Given the description of an element on the screen output the (x, y) to click on. 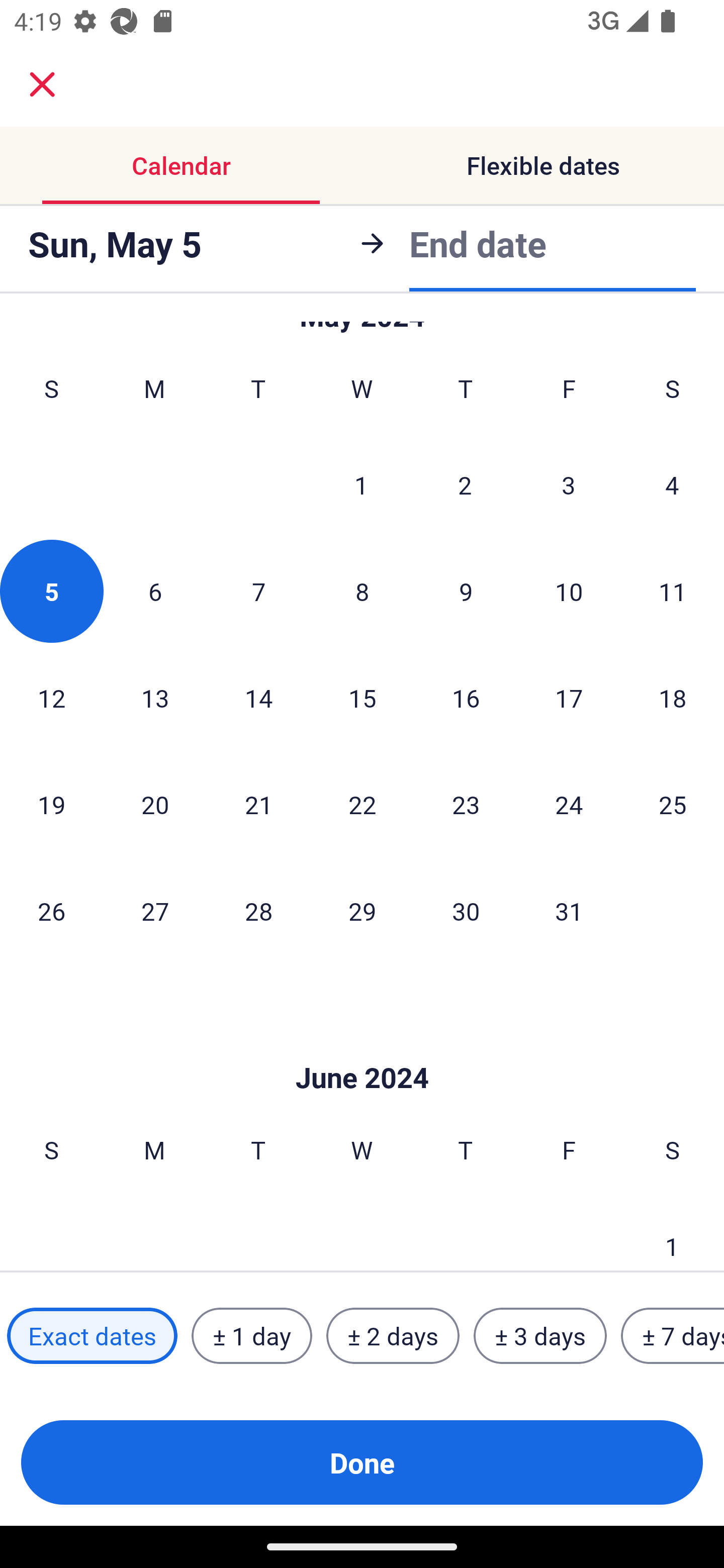
close. (42, 84)
Flexible dates (542, 164)
End date (477, 240)
1 Wednesday, May 1, 2024 (361, 484)
2 Thursday, May 2, 2024 (464, 484)
3 Friday, May 3, 2024 (568, 484)
4 Saturday, May 4, 2024 (672, 484)
6 Monday, May 6, 2024 (155, 590)
7 Tuesday, May 7, 2024 (258, 590)
8 Wednesday, May 8, 2024 (362, 590)
9 Thursday, May 9, 2024 (465, 590)
10 Friday, May 10, 2024 (569, 590)
11 Saturday, May 11, 2024 (672, 590)
12 Sunday, May 12, 2024 (51, 697)
13 Monday, May 13, 2024 (155, 697)
14 Tuesday, May 14, 2024 (258, 697)
15 Wednesday, May 15, 2024 (362, 697)
16 Thursday, May 16, 2024 (465, 697)
17 Friday, May 17, 2024 (569, 697)
18 Saturday, May 18, 2024 (672, 697)
19 Sunday, May 19, 2024 (51, 804)
20 Monday, May 20, 2024 (155, 804)
21 Tuesday, May 21, 2024 (258, 804)
22 Wednesday, May 22, 2024 (362, 804)
23 Thursday, May 23, 2024 (465, 804)
24 Friday, May 24, 2024 (569, 804)
25 Saturday, May 25, 2024 (672, 804)
26 Sunday, May 26, 2024 (51, 910)
27 Monday, May 27, 2024 (155, 910)
28 Tuesday, May 28, 2024 (258, 910)
29 Wednesday, May 29, 2024 (362, 910)
30 Thursday, May 30, 2024 (465, 910)
31 Friday, May 31, 2024 (569, 910)
Skip to Done (362, 1047)
1 Saturday, June 1, 2024 (672, 1232)
Exact dates (92, 1335)
± 1 day (251, 1335)
± 2 days (392, 1335)
± 3 days (539, 1335)
± 7 days (672, 1335)
Done (361, 1462)
